Given the description of an element on the screen output the (x, y) to click on. 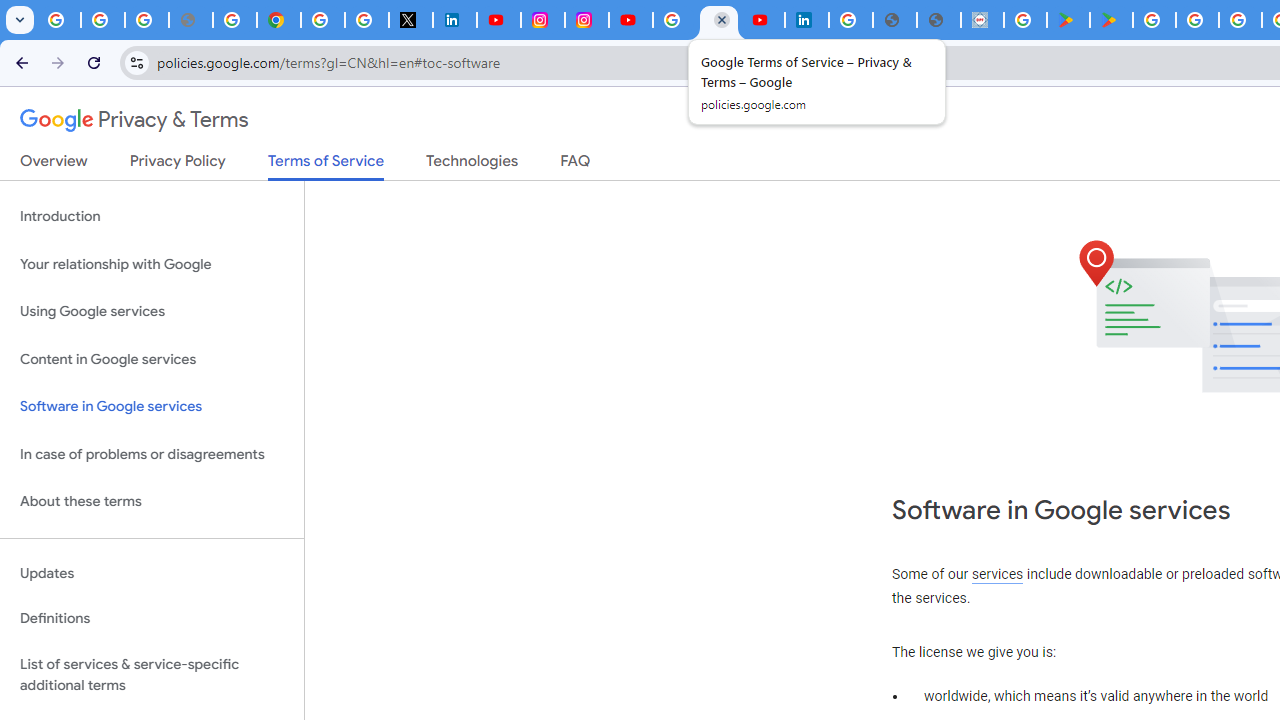
Software in Google services (152, 407)
Your relationship with Google (152, 263)
Sign in - Google Accounts (674, 20)
LinkedIn Privacy Policy (454, 20)
Using Google services (152, 312)
List of services & service-specific additional terms (152, 674)
About these terms (152, 502)
